Given the description of an element on the screen output the (x, y) to click on. 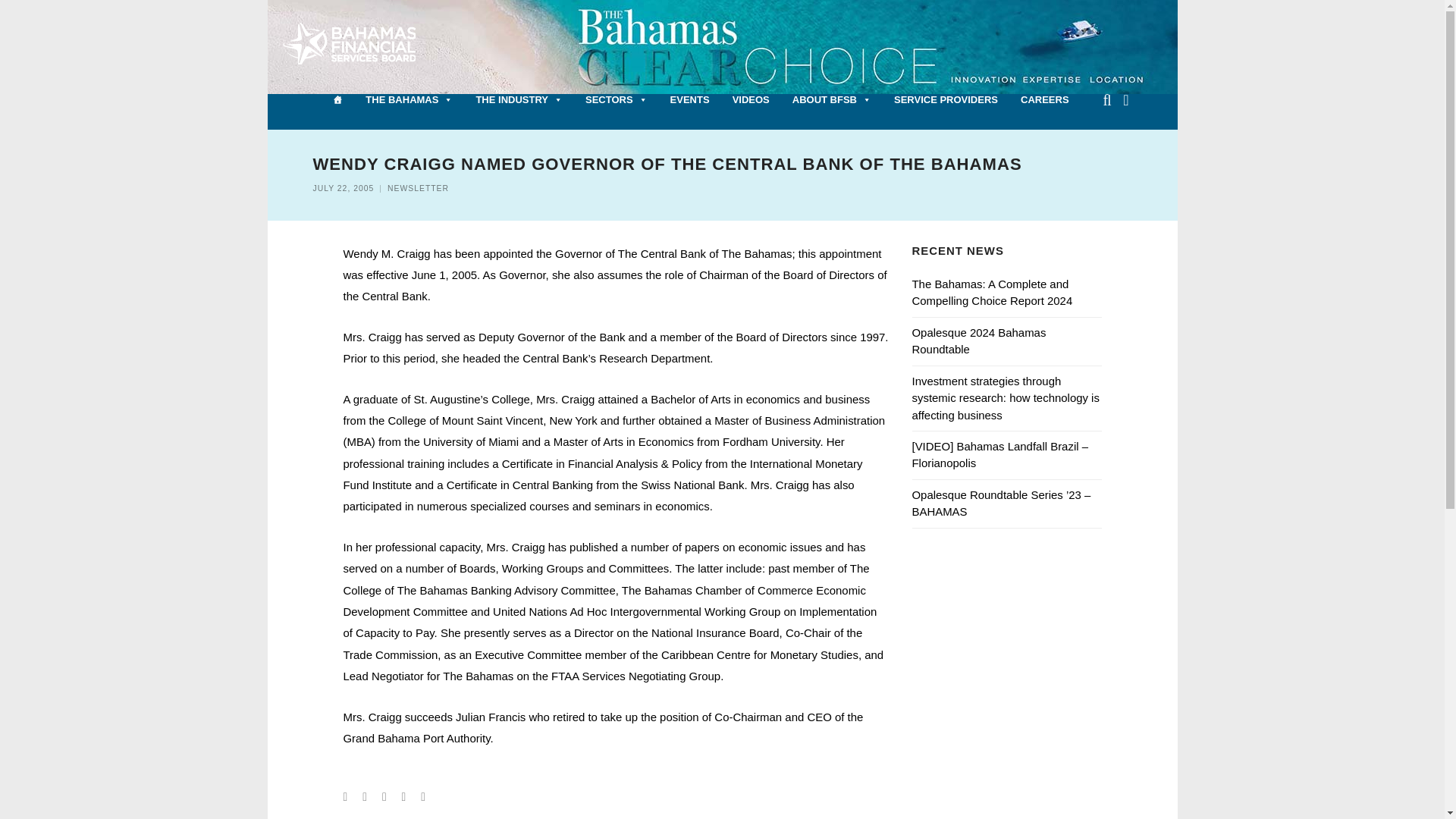
View all posts in Newsletter (417, 188)
